Given the description of an element on the screen output the (x, y) to click on. 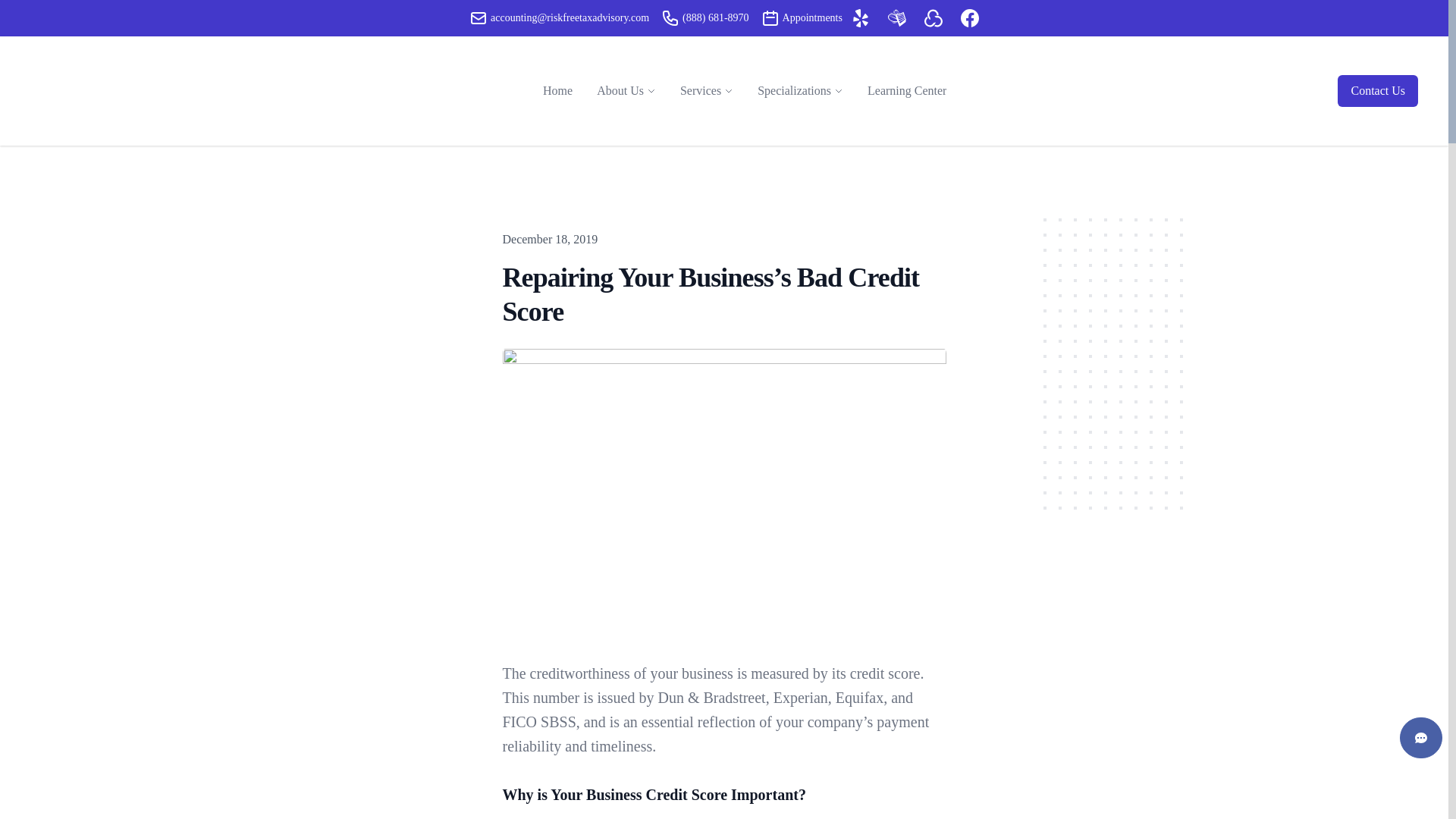
Services (699, 90)
About Us (619, 90)
Contact Us (1378, 91)
Yelp (860, 18)
Appointments (769, 18)
Home (558, 91)
Appointments (802, 18)
Home (558, 91)
Facebook (969, 18)
TaxBuzz (933, 18)
Learning Center (907, 91)
